Given the description of an element on the screen output the (x, y) to click on. 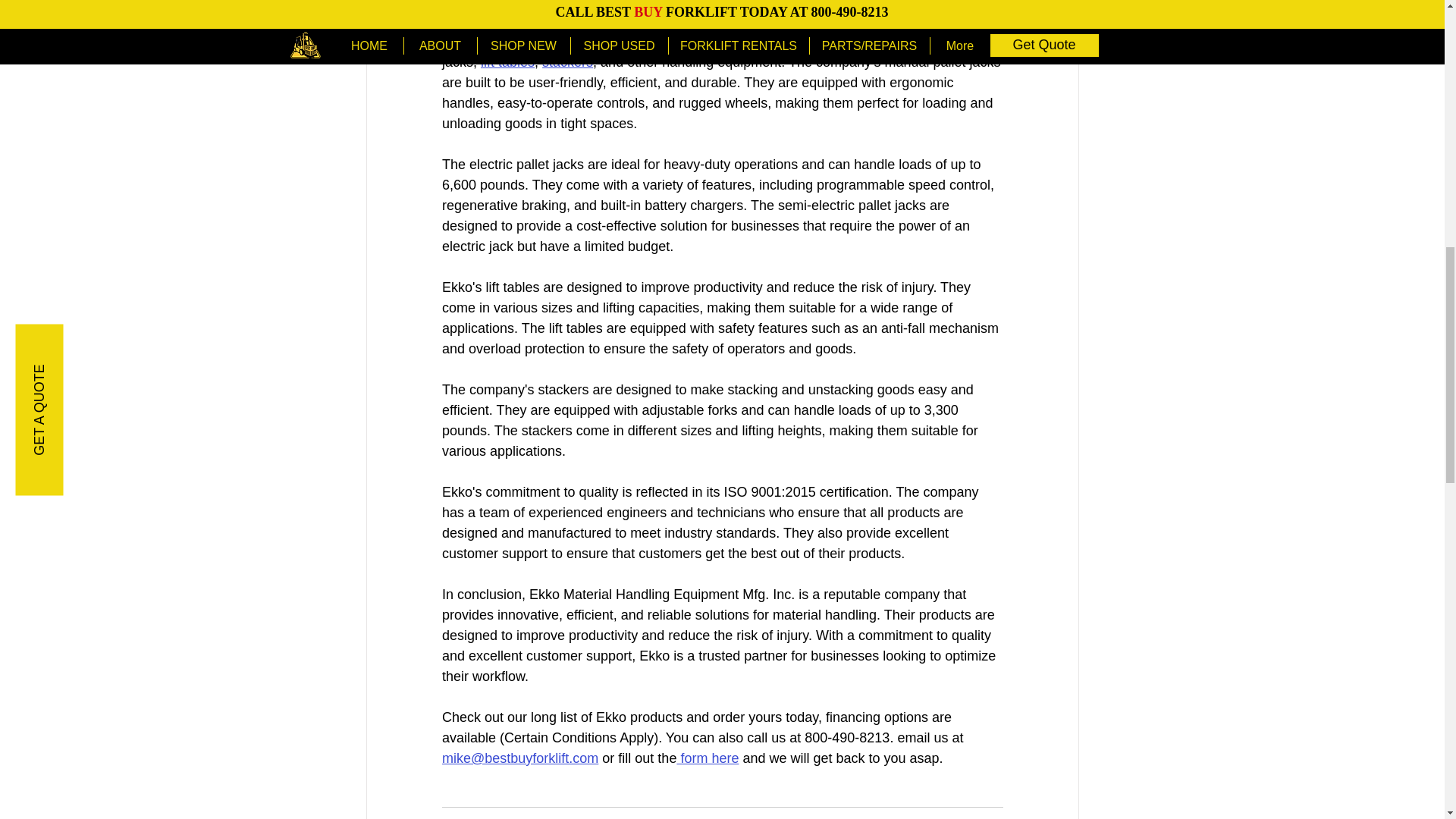
lift tables (507, 61)
manual pallet jacks, electric pallet jacks (731, 41)
stackers (566, 61)
 form here (707, 758)
